Given the description of an element on the screen output the (x, y) to click on. 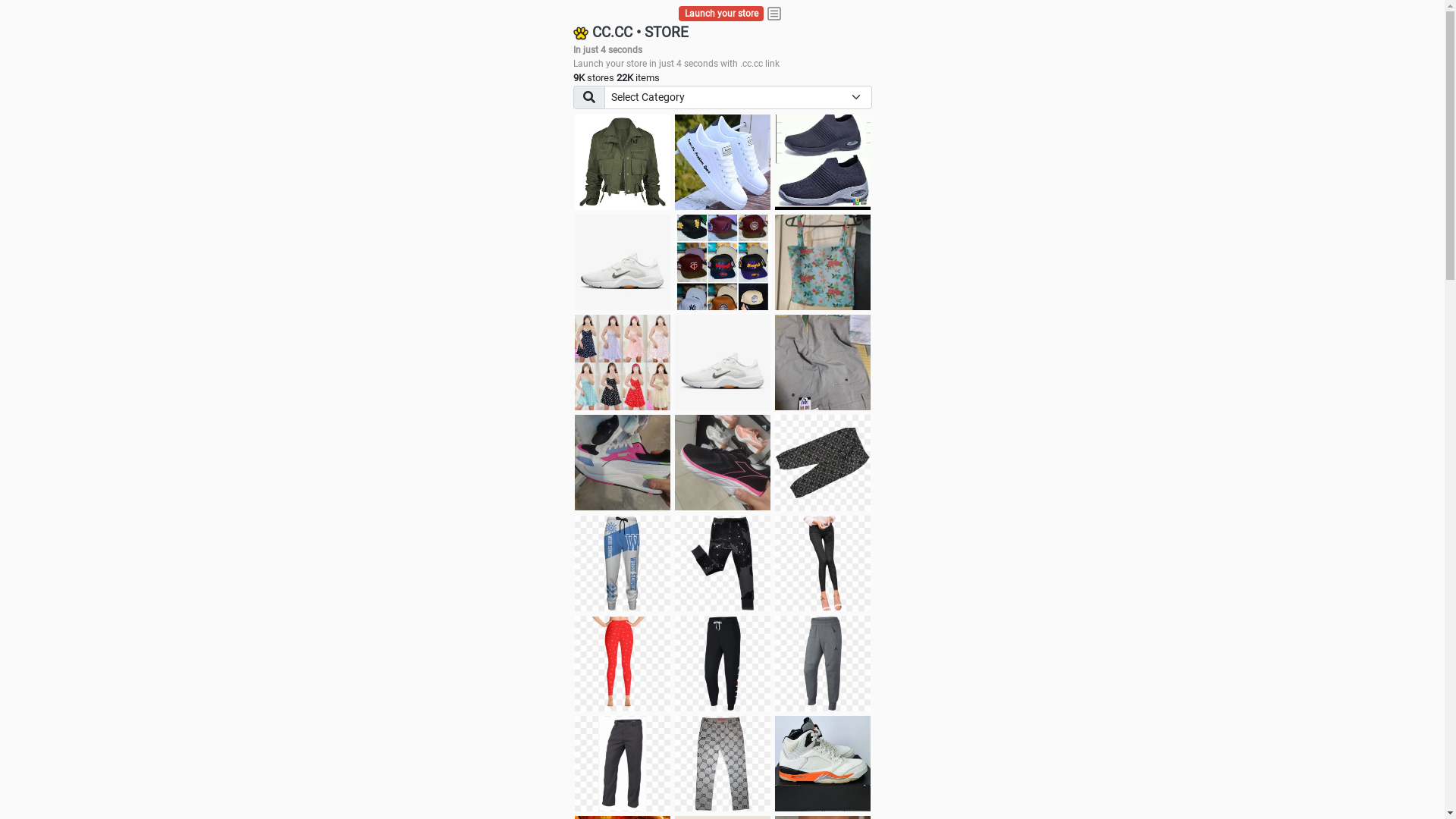
Short pant Element type: hover (822, 462)
Pant Element type: hover (822, 663)
Ukay cloth Element type: hover (822, 262)
Pant Element type: hover (722, 763)
Pant Element type: hover (722, 663)
Shoes for boys Element type: hover (622, 262)
Shoes Element type: hover (722, 362)
Shoe Element type: hover (822, 763)
Pant Element type: hover (622, 663)
Pant Element type: hover (722, 563)
Zapatillas pumas Element type: hover (622, 462)
shoes for boys Element type: hover (822, 162)
Things we need Element type: hover (722, 262)
Dress/square nect top Element type: hover (622, 362)
Pant Element type: hover (622, 763)
white shoes Element type: hover (722, 162)
Zapatillas Element type: hover (722, 462)
Pant Element type: hover (622, 563)
jacket Element type: hover (622, 162)
Pant Element type: hover (822, 563)
Launch your store Element type: text (721, 13)
